Given the description of an element on the screen output the (x, y) to click on. 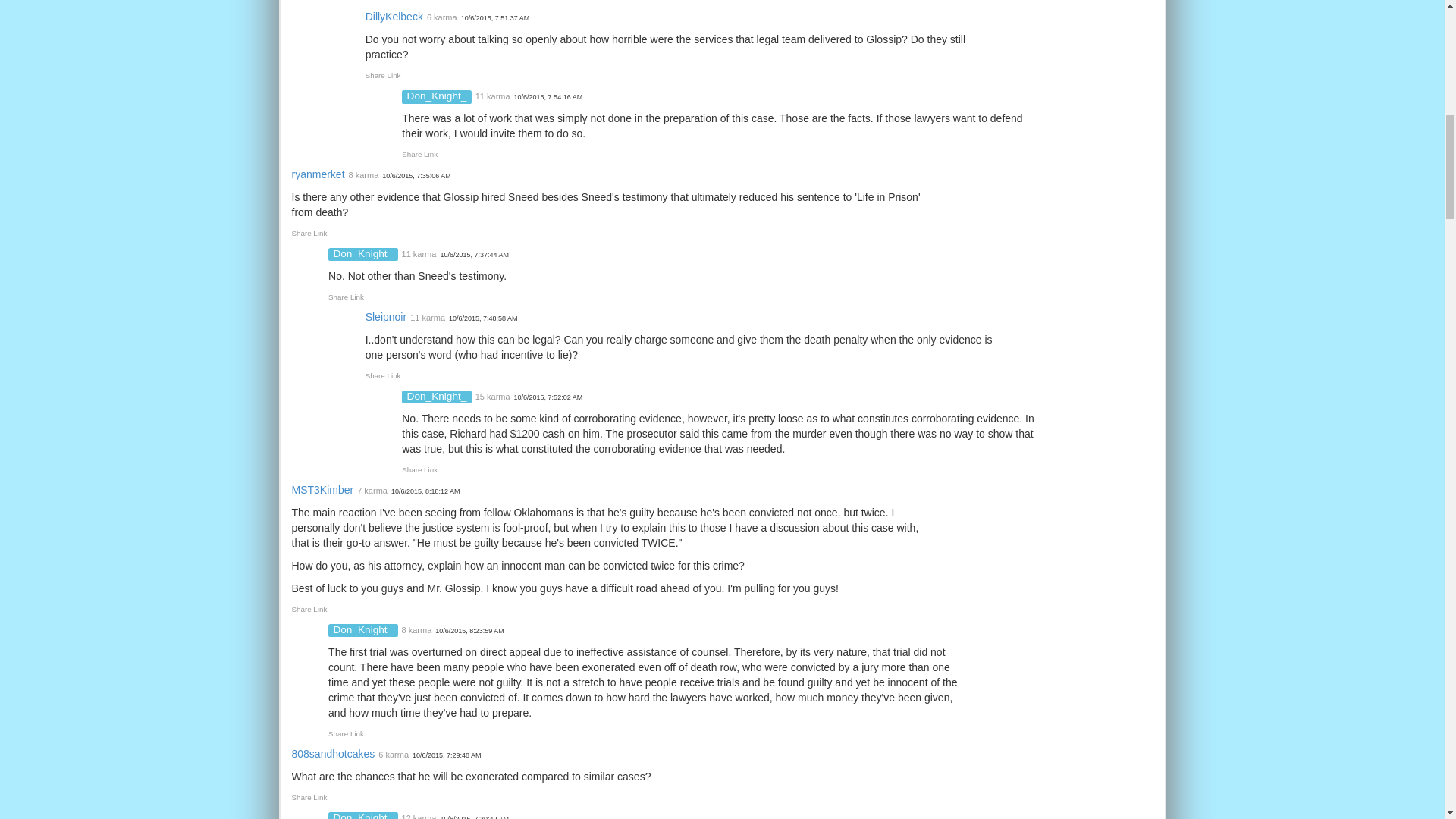
Share Link (419, 153)
Share Link (383, 75)
ryanmerket (317, 174)
DillyKelbeck (394, 16)
